Given the description of an element on the screen output the (x, y) to click on. 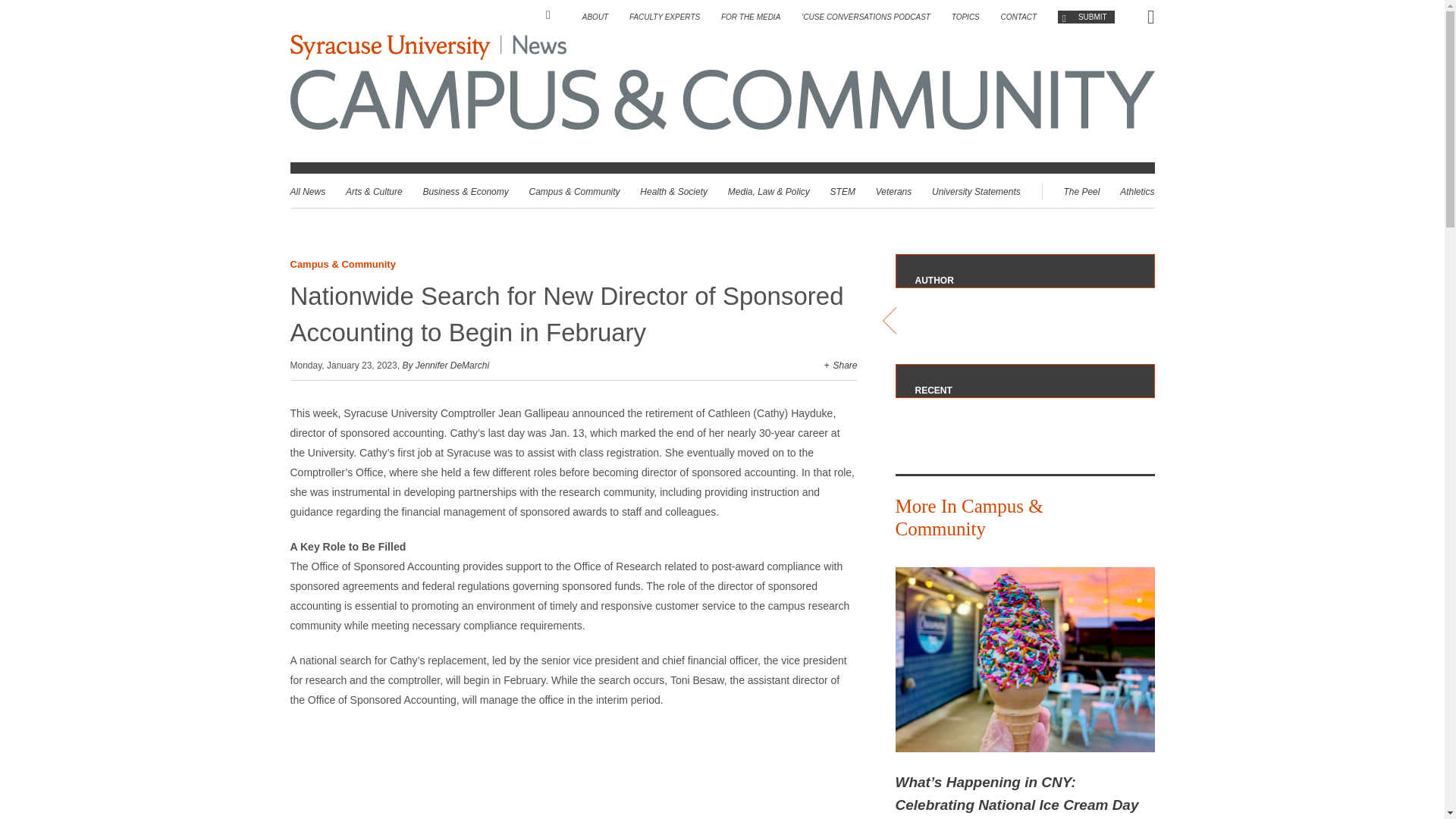
HOME (553, 15)
Submit (1086, 16)
All News (306, 191)
For The Media (750, 17)
Veterans (894, 191)
All News (306, 191)
SUBMIT (1086, 16)
Syracuse University News (427, 47)
Syracuse University (388, 47)
ABOUT (595, 17)
Topics (965, 17)
Home (553, 15)
TOPICS (965, 17)
Syracuse University News (538, 47)
About (595, 17)
